Given the description of an element on the screen output the (x, y) to click on. 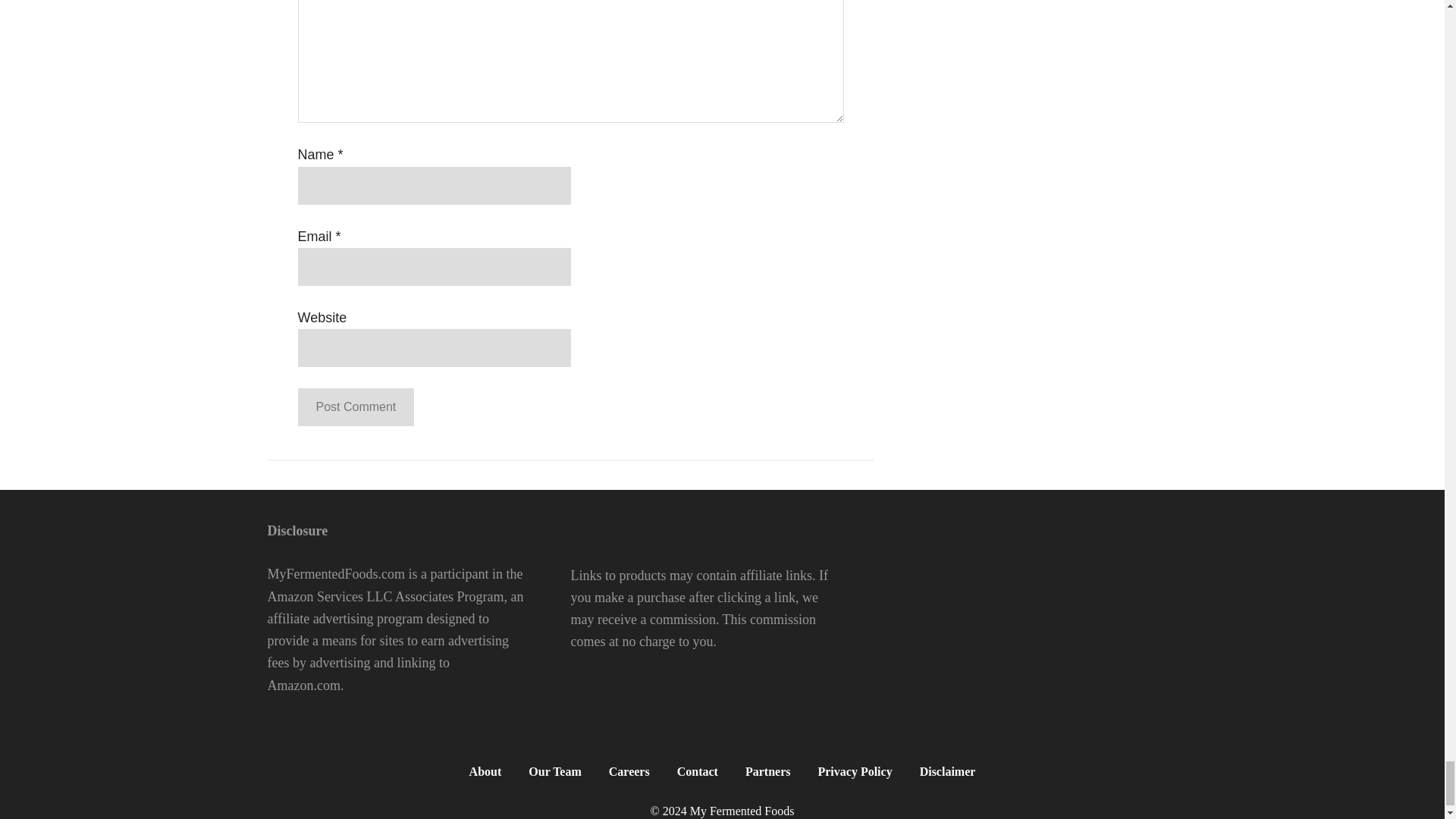
Post Comment (355, 406)
